Given the description of an element on the screen output the (x, y) to click on. 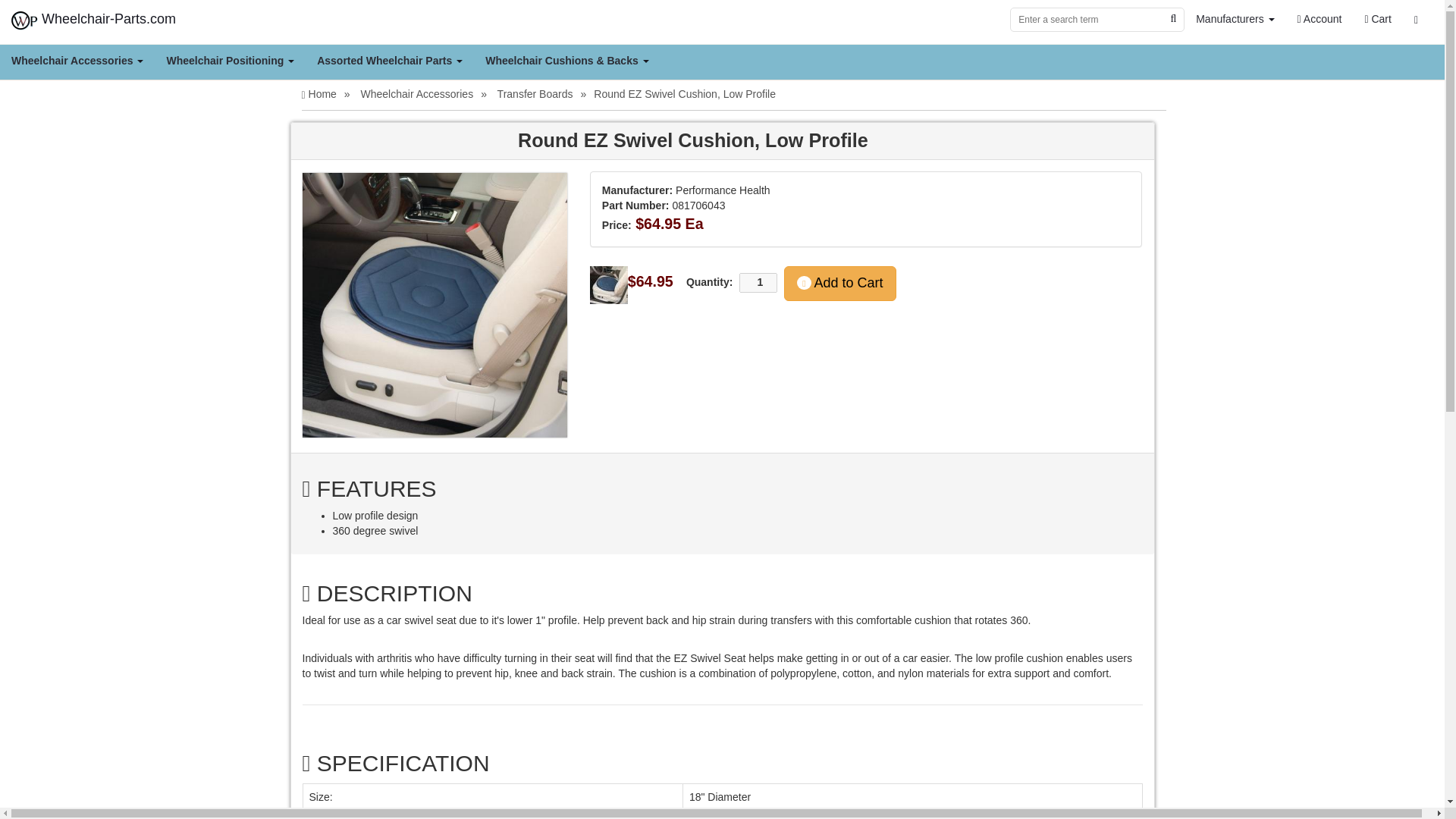
Wheelchair Accessories (77, 60)
1 (758, 282)
Cart (1377, 18)
Round EZ Swivel Cushion, Low Profile (433, 304)
Account (1319, 18)
Wheelchair-Parts.com (93, 18)
Manufacturers (1235, 18)
